Given the description of an element on the screen output the (x, y) to click on. 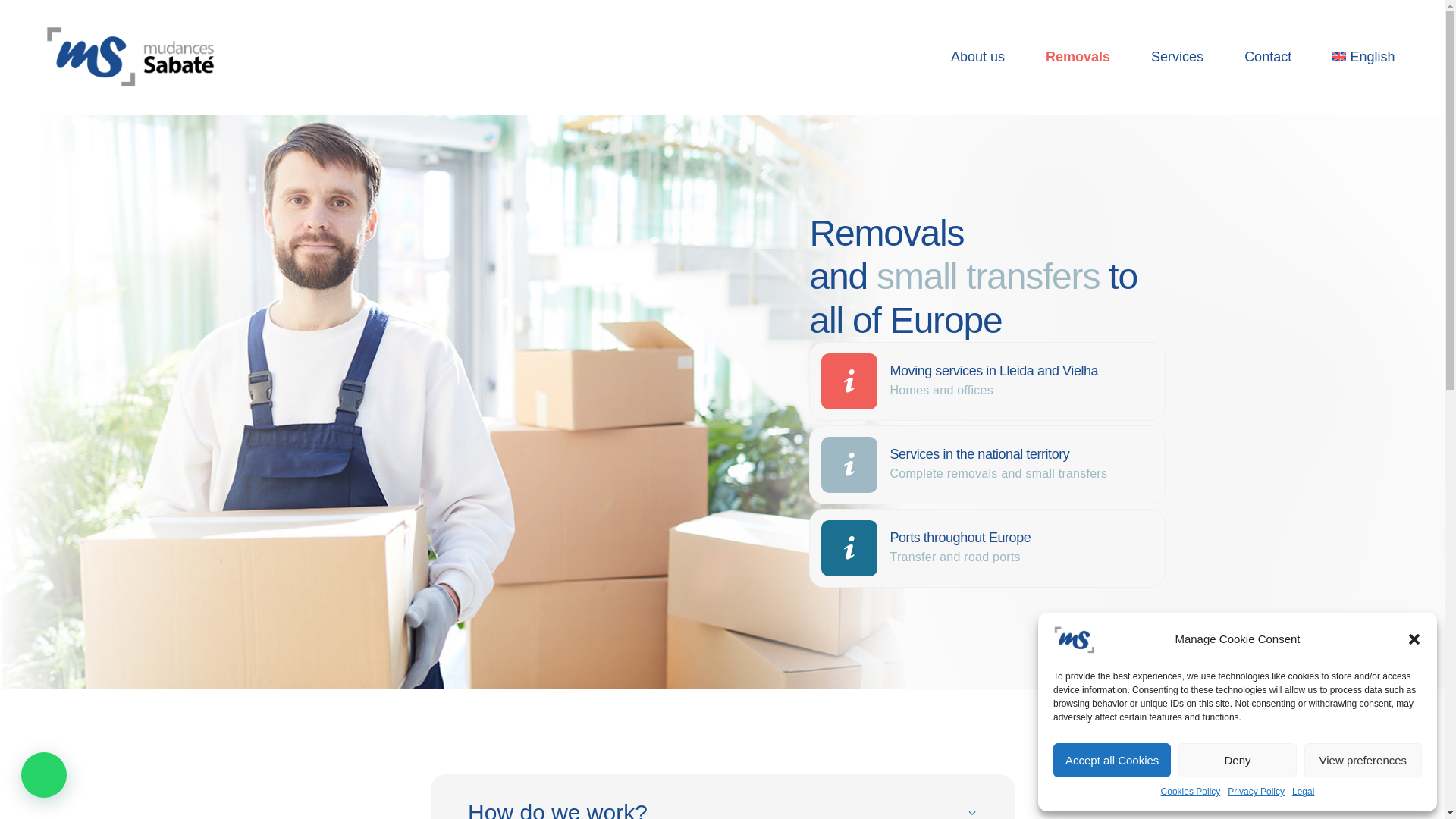
English (1363, 57)
View preferences (1363, 759)
Legal (1303, 792)
Accept all Cookies (1111, 759)
How do we work? (721, 805)
English (1363, 57)
Cookies Policy (1190, 792)
Services (1177, 57)
Privacy Policy (1255, 792)
Removals (1078, 57)
Contact (1267, 57)
About us (977, 57)
Deny (1236, 759)
